Given the description of an element on the screen output the (x, y) to click on. 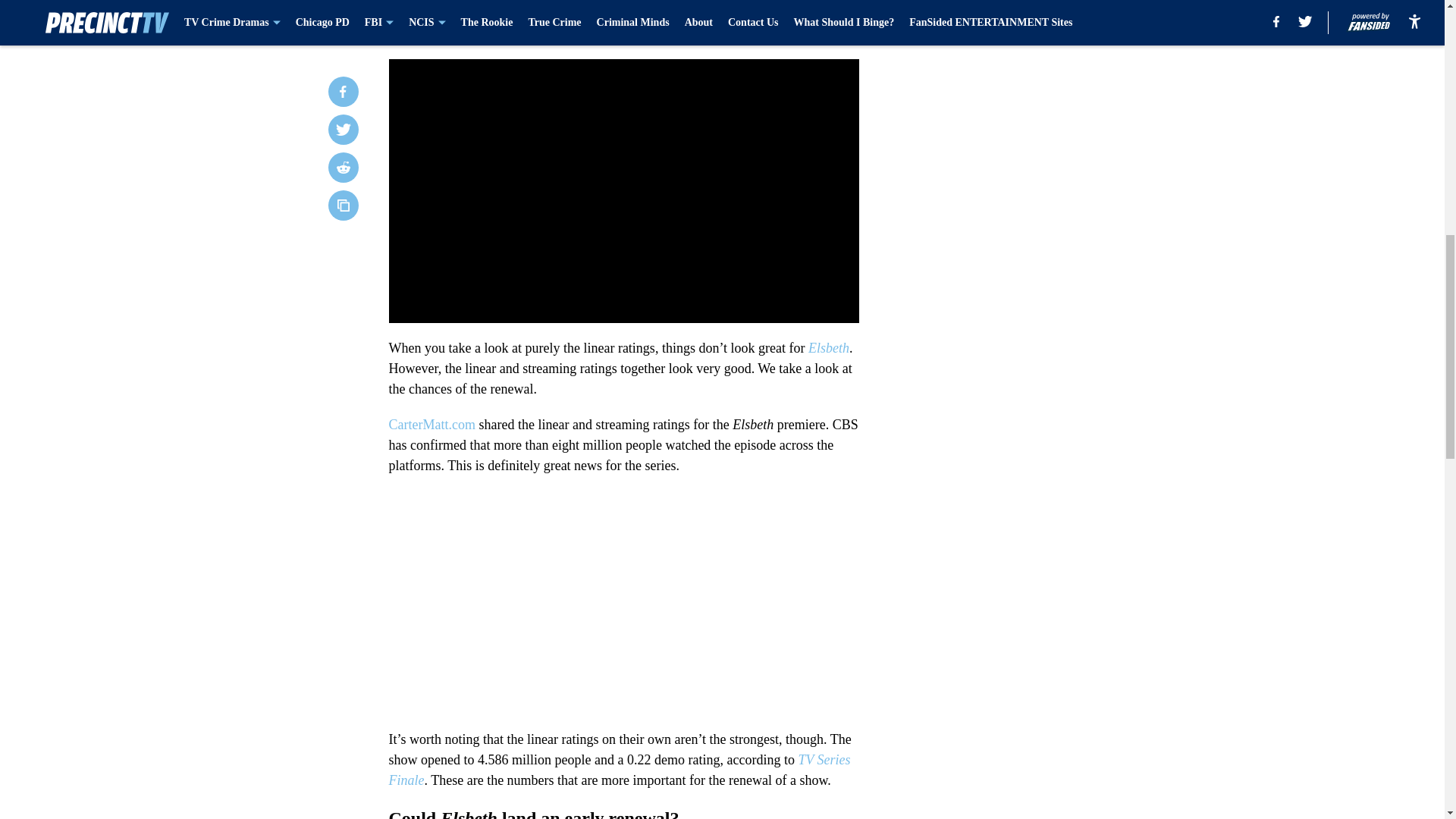
Elsbeth (828, 347)
TV Series Finale (619, 769)
3rd party ad content (1047, 153)
CarterMatt.com (433, 424)
